Given the description of an element on the screen output the (x, y) to click on. 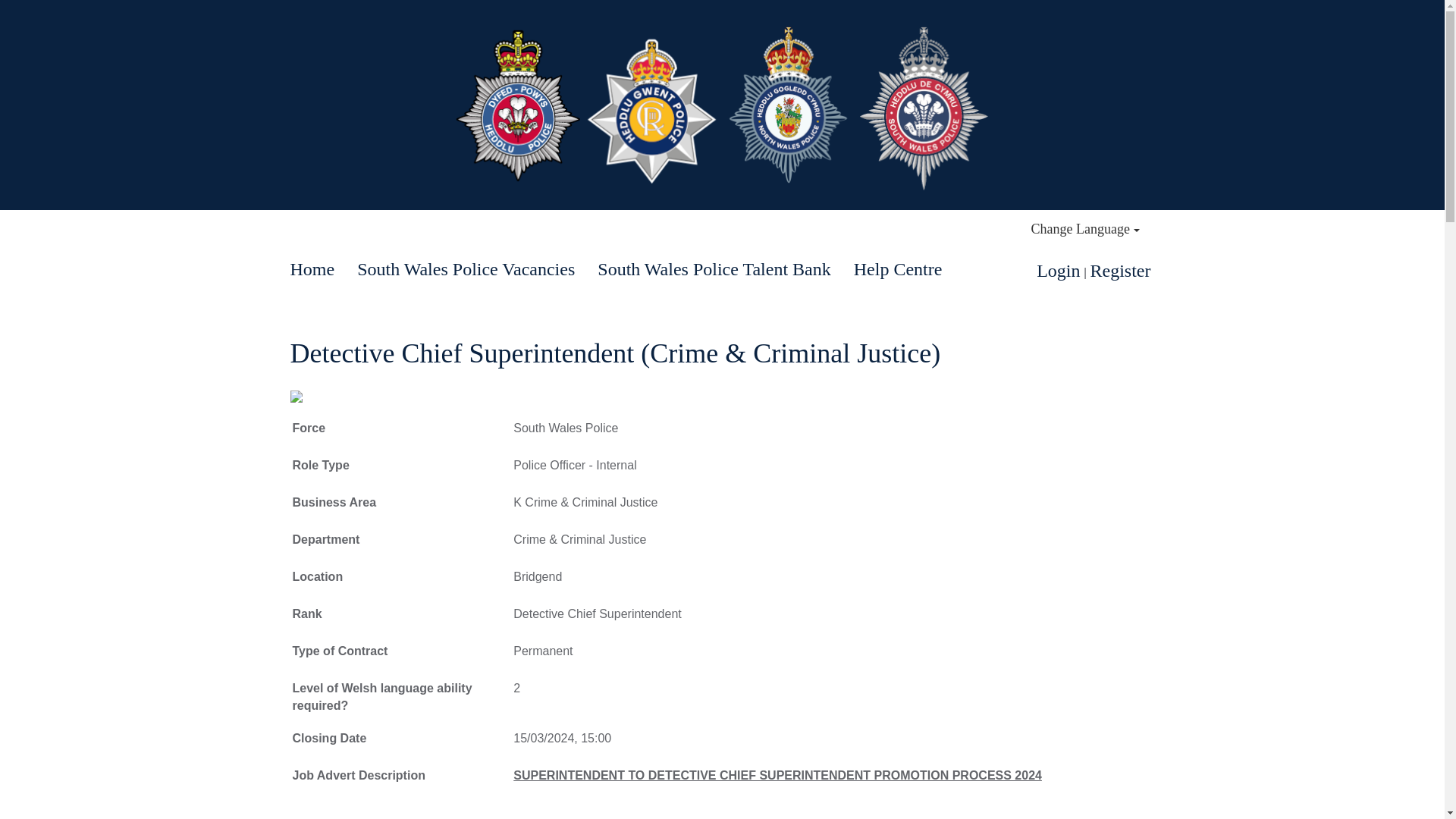
South Wales Police Vacancies (466, 269)
Help Centre (898, 269)
Register (1120, 270)
Home (312, 269)
Change Language (1085, 229)
Login (1058, 270)
South Wales Police Talent Bank (713, 269)
